Given the description of an element on the screen output the (x, y) to click on. 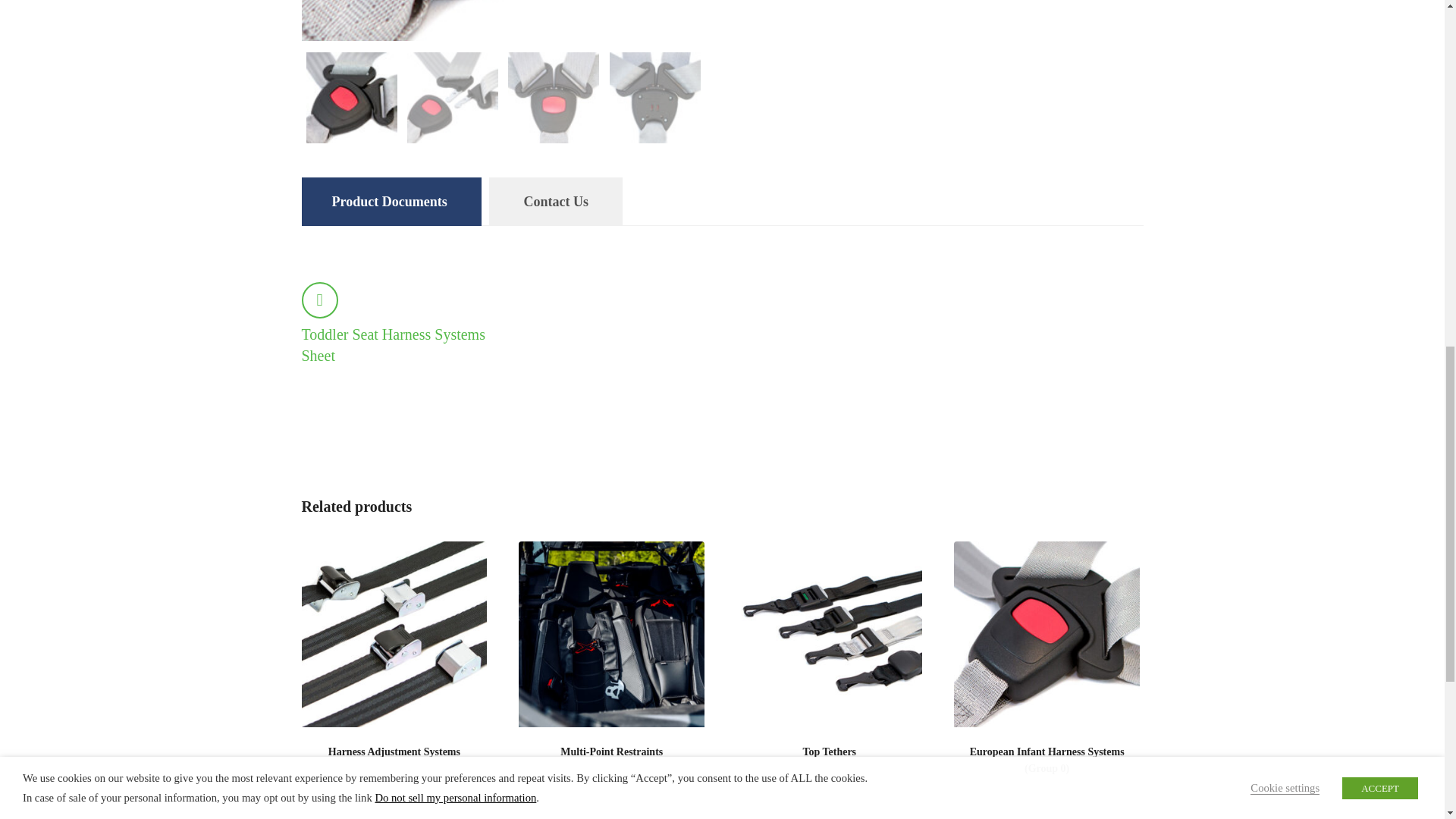
Product Data Sheet (319, 299)
Titan-toddler-1 (542, 20)
